Given the description of an element on the screen output the (x, y) to click on. 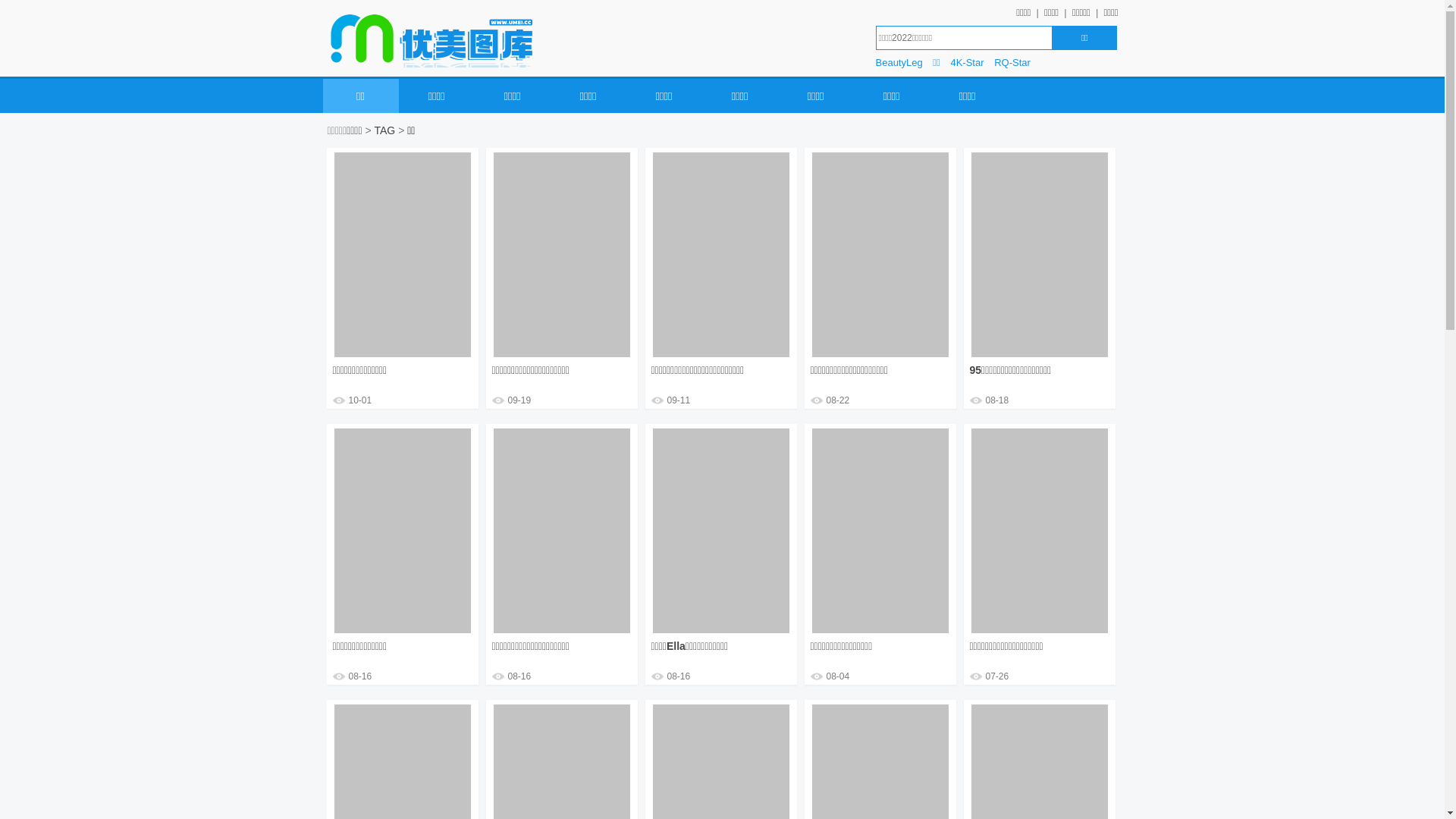
TAG Element type: text (384, 130)
RQ-Star Element type: text (1012, 62)
4K-Star Element type: text (966, 62)
BeautyLeg Element type: text (898, 62)
